Given the description of an element on the screen output the (x, y) to click on. 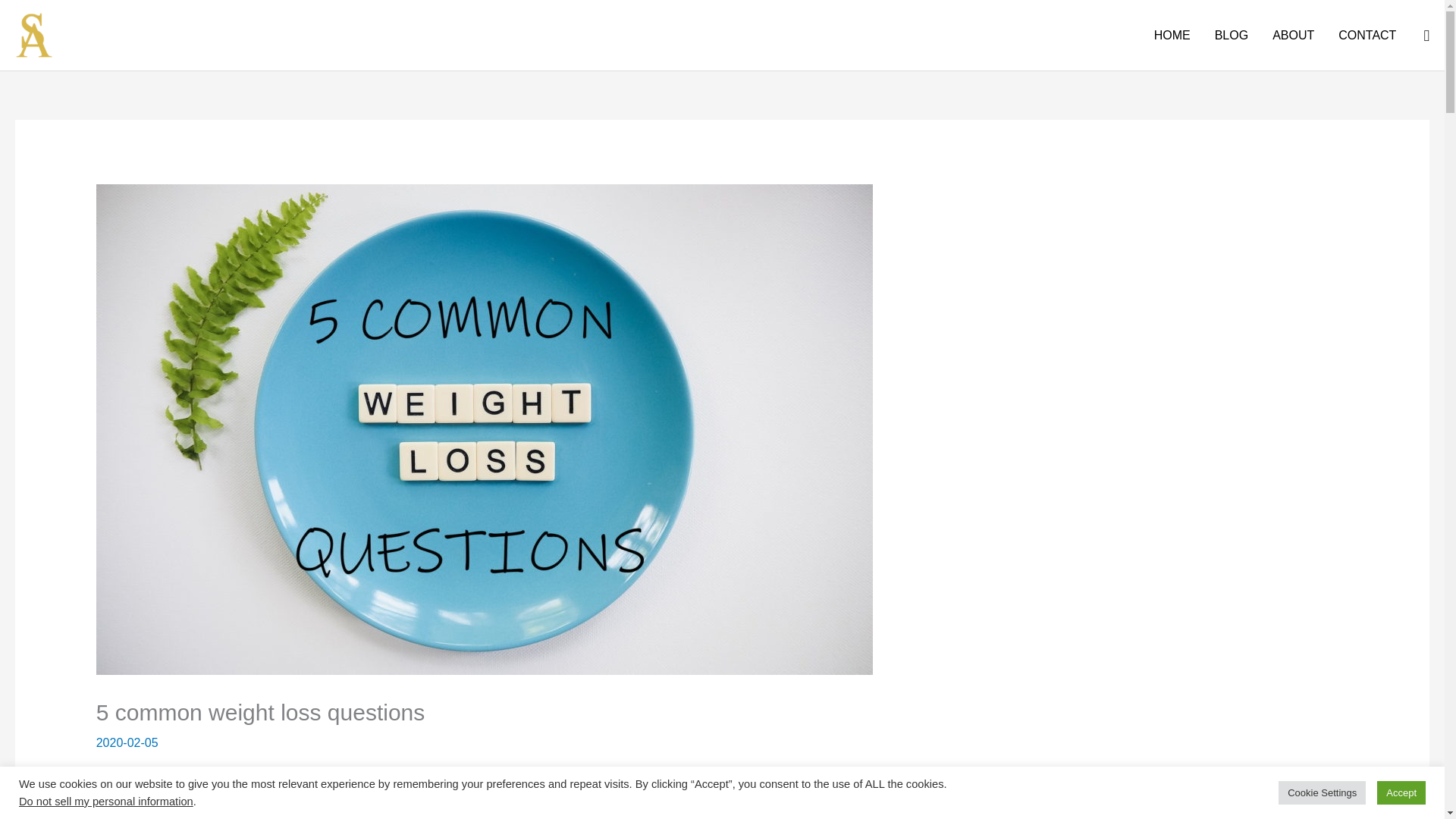
HOME (1171, 35)
5 weight loss confusions (1113, 787)
BLOG (1231, 35)
ABOUT (1293, 35)
CONTACT (1366, 35)
